Given the description of an element on the screen output the (x, y) to click on. 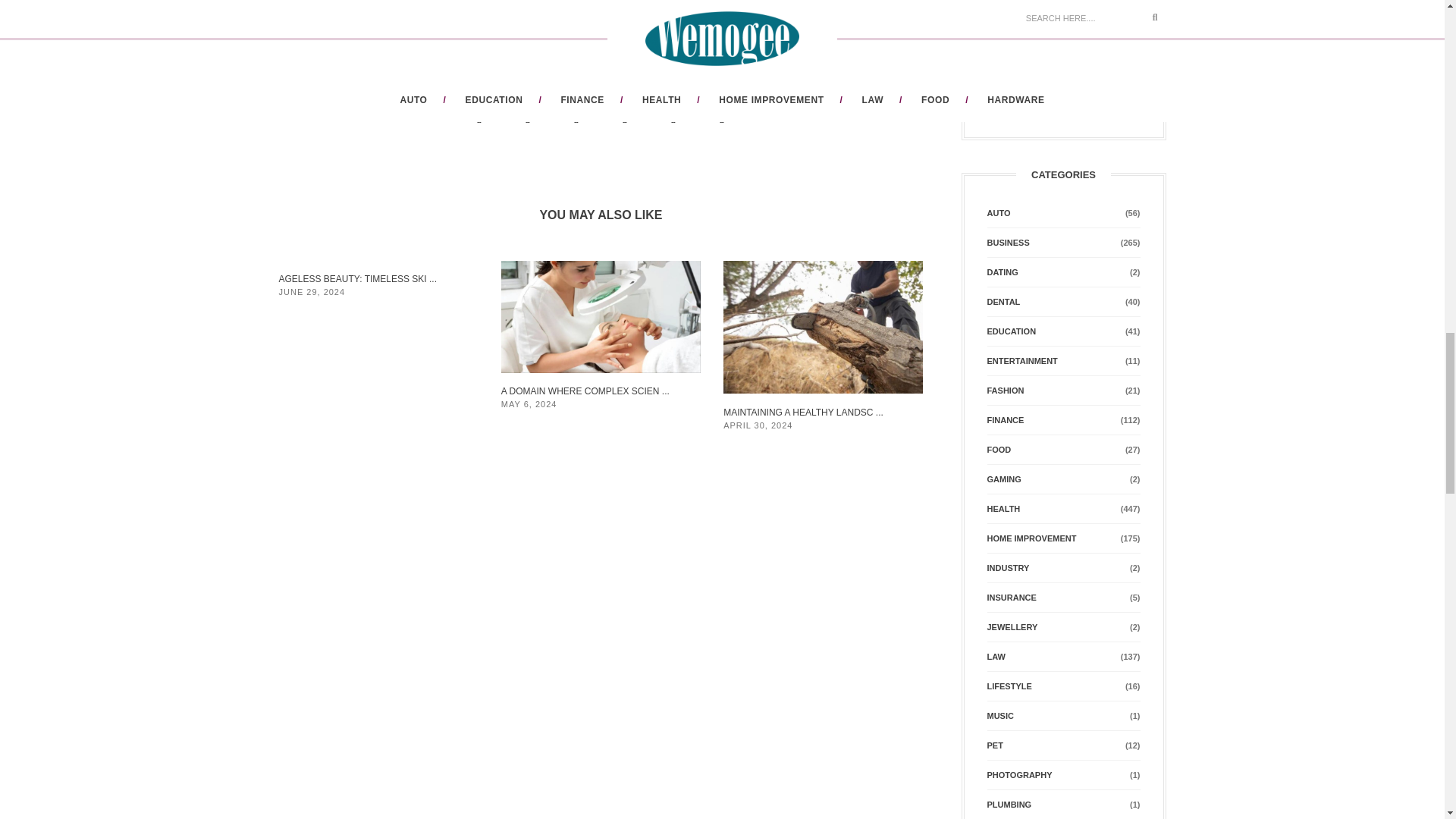
Subscribe now (1026, 71)
MAINTAINING A HEALTHY LANDSC ... (803, 412)
AGELESS BEAUTY: TIMELESS SKI ... (358, 278)
24 (815, 41)
A DOMAIN WHERE COMPLEX SCIEN ... (584, 390)
Like (815, 41)
